Given the description of an element on the screen output the (x, y) to click on. 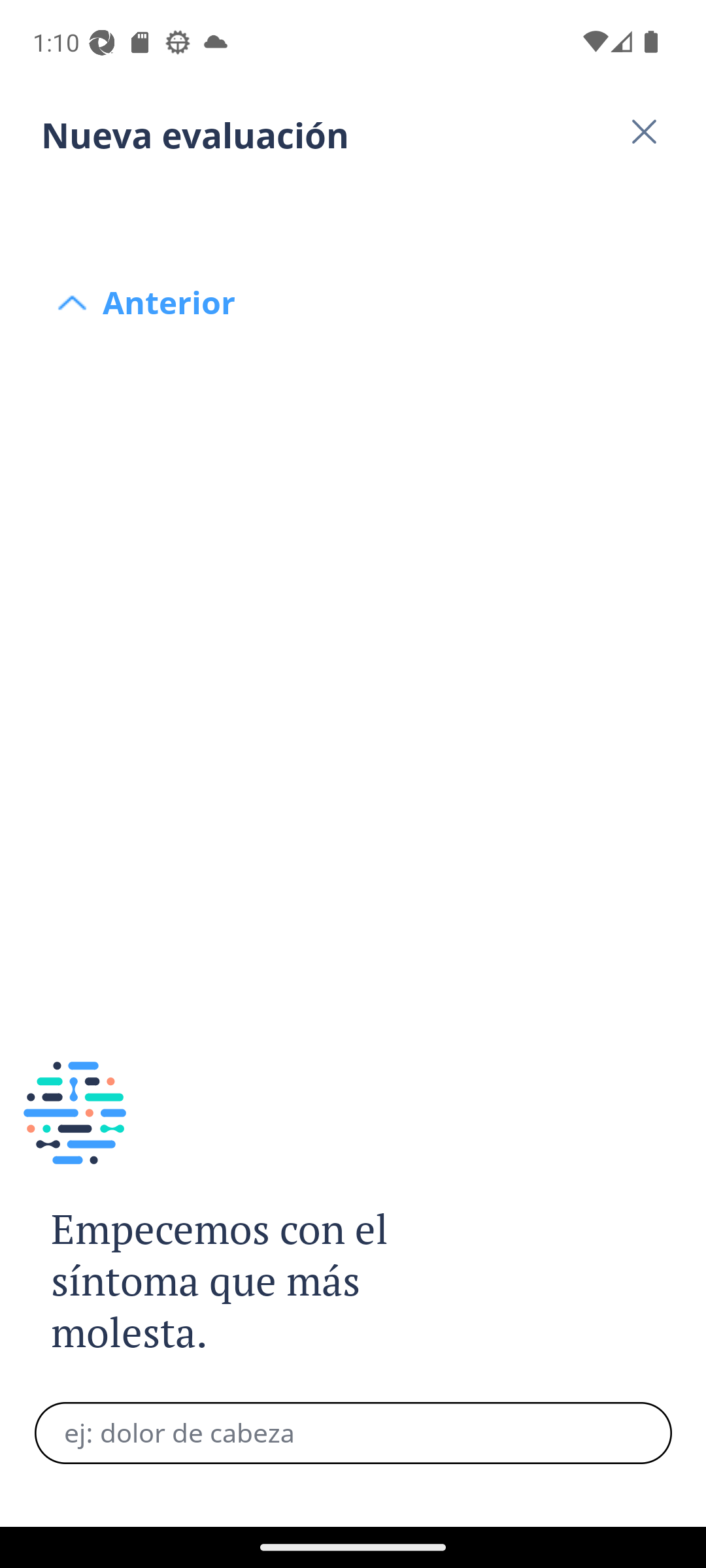
undo Anterior (353, 203)
Empecemos con el síntoma que más molesta. (240, 1281)
ej: dolor de cabeza (353, 1432)
